Given the description of an element on the screen output the (x, y) to click on. 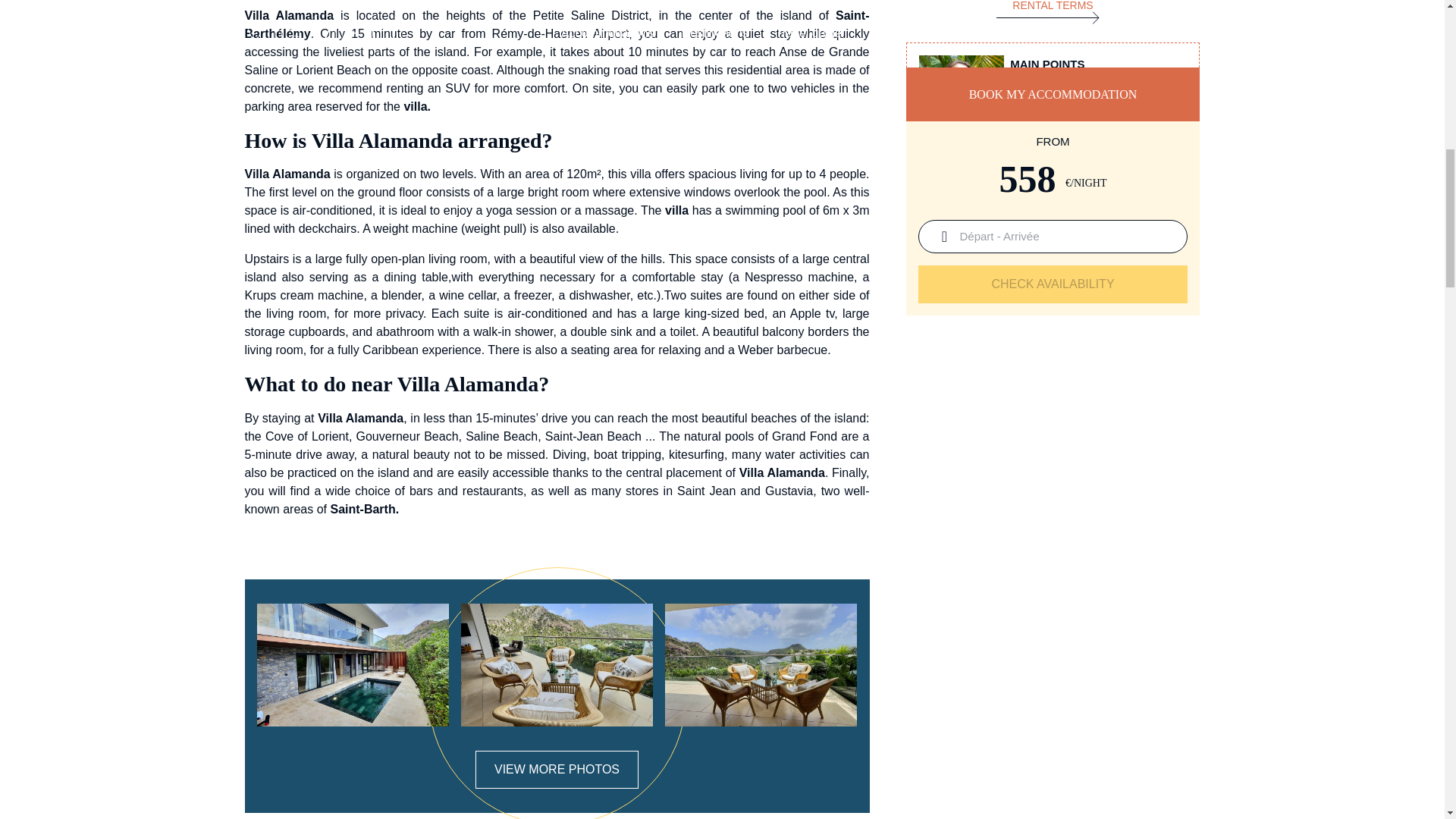
VIEW MORE PHOTOS (557, 769)
RENTAL TERMS (961, 160)
